Given the description of an element on the screen output the (x, y) to click on. 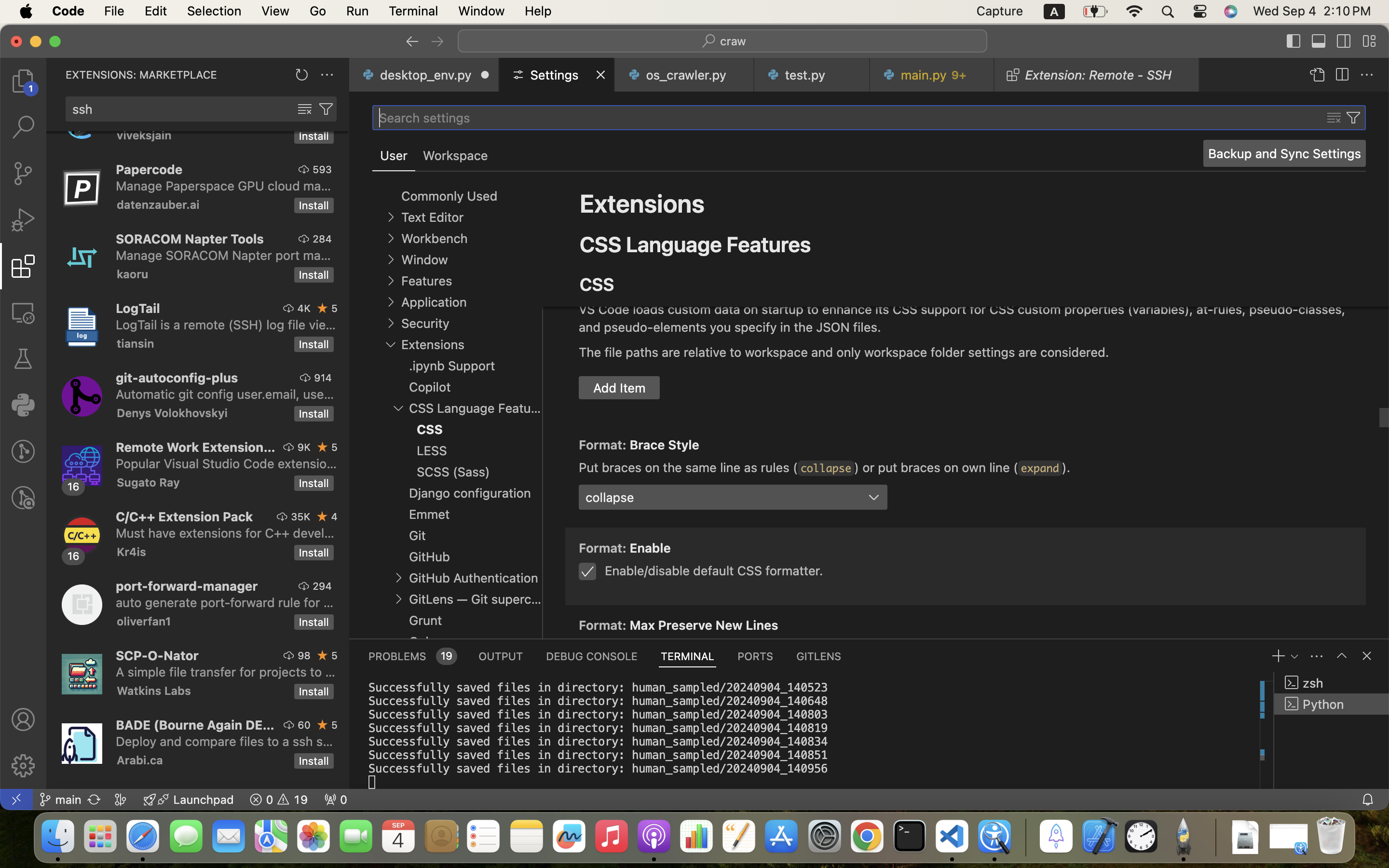
 Element type: AXCheckBox (1341, 655)
60 Element type: AXStaticText (304, 724)
 Element type: AXStaticText (22, 765)
284 Element type: AXStaticText (321, 238)
expand Element type: AXStaticText (1039, 468)
